Given the description of an element on the screen output the (x, y) to click on. 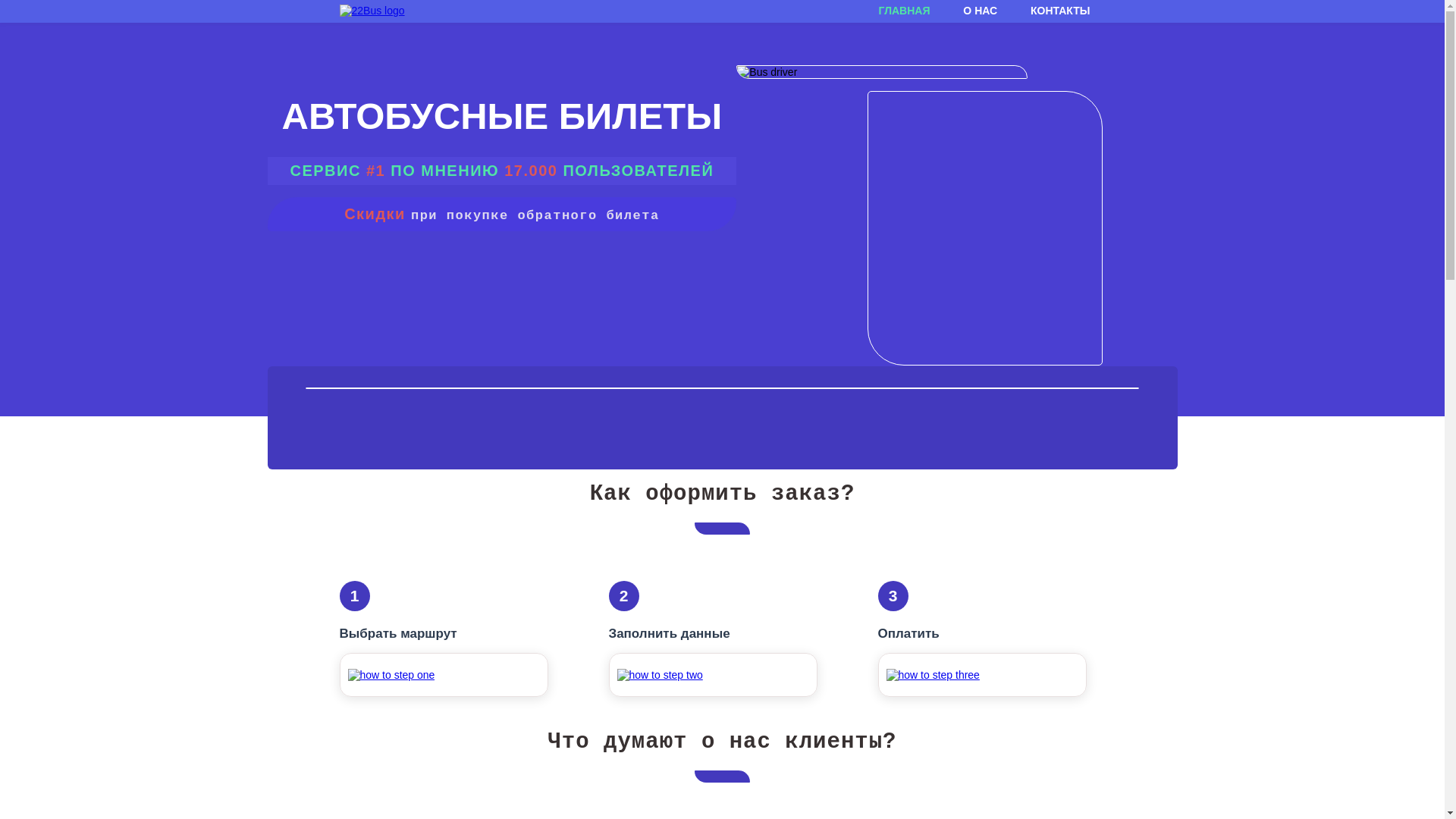
Home Element type: hover (371, 10)
